Given the description of an element on the screen output the (x, y) to click on. 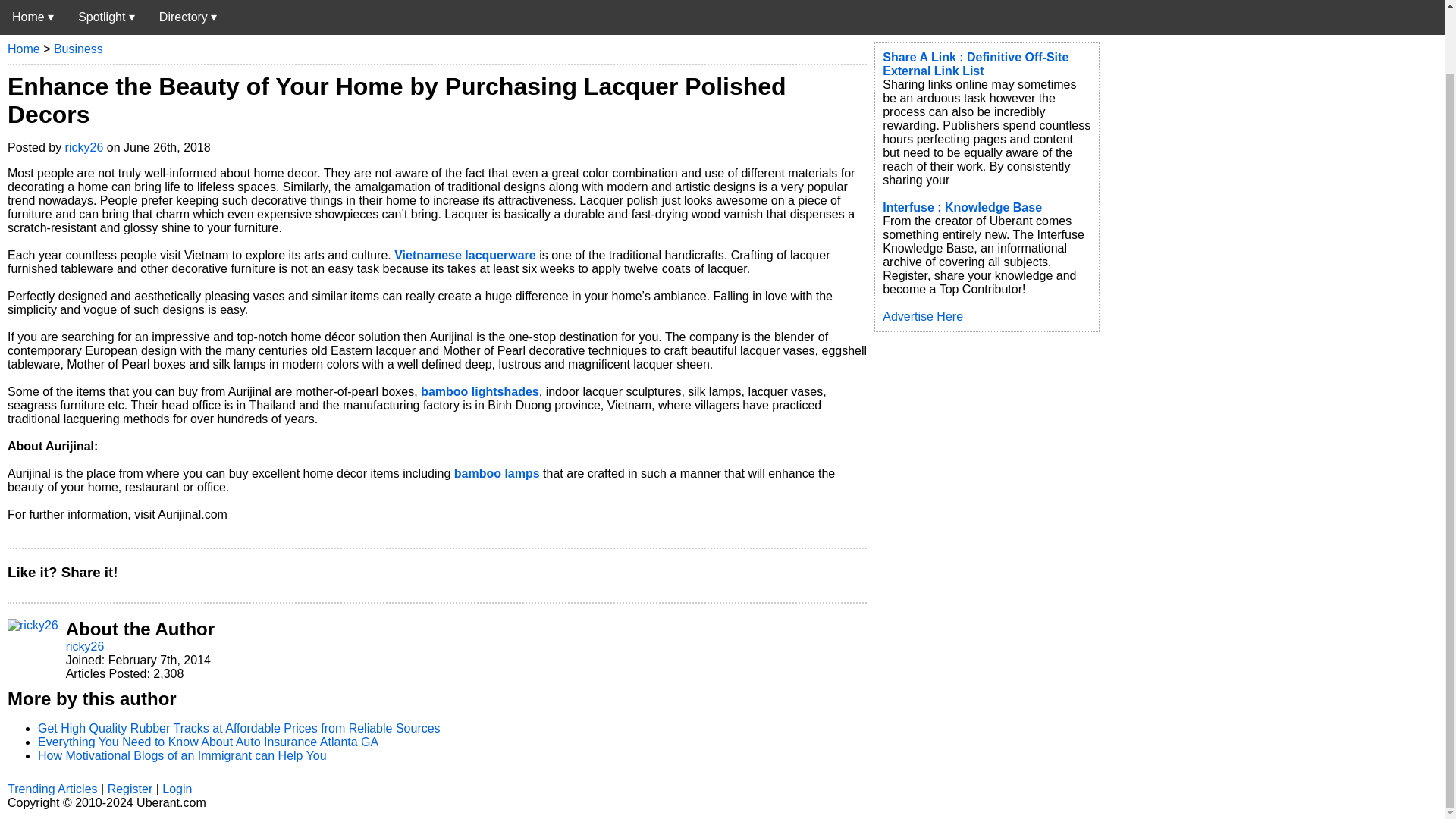
Uberant (32, 16)
